Given the description of an element on the screen output the (x, y) to click on. 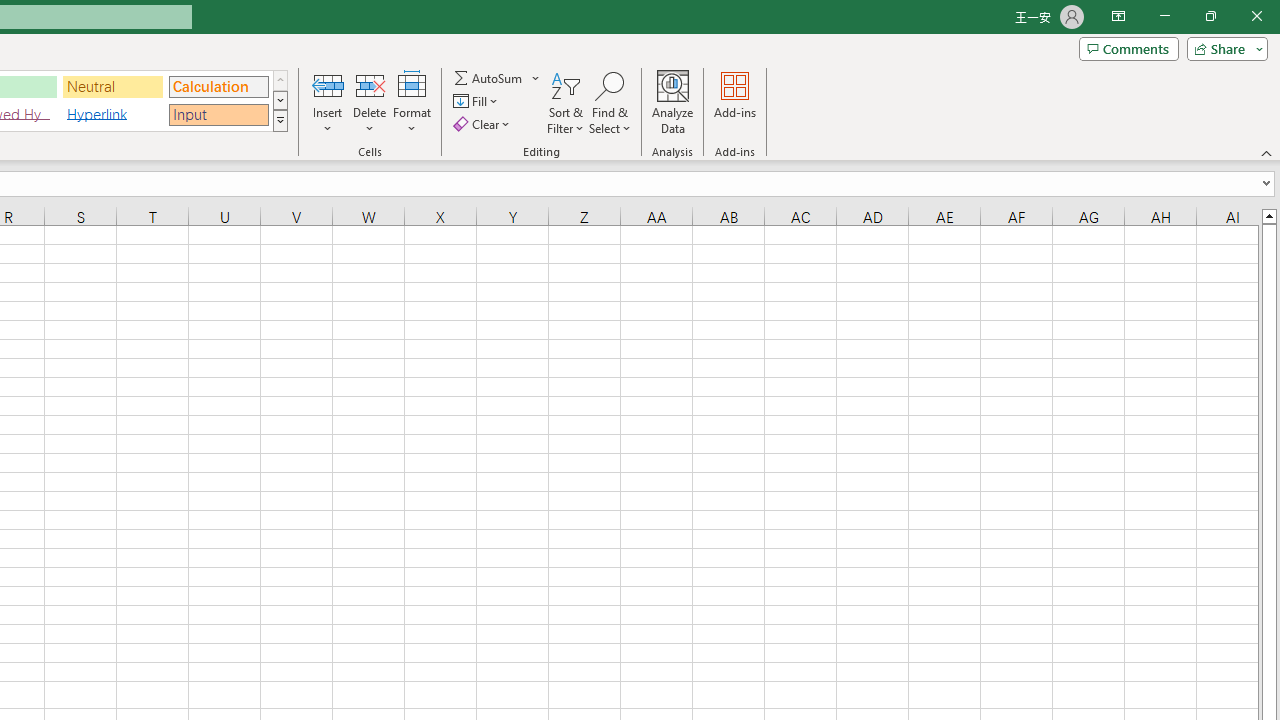
Insert Cells (328, 84)
AutoSum (497, 78)
Hyperlink (113, 114)
Cell Styles (280, 120)
Input (218, 114)
Calculation (218, 86)
Find & Select (610, 102)
Fill (477, 101)
Delete Cells... (369, 84)
